Given the description of an element on the screen output the (x, y) to click on. 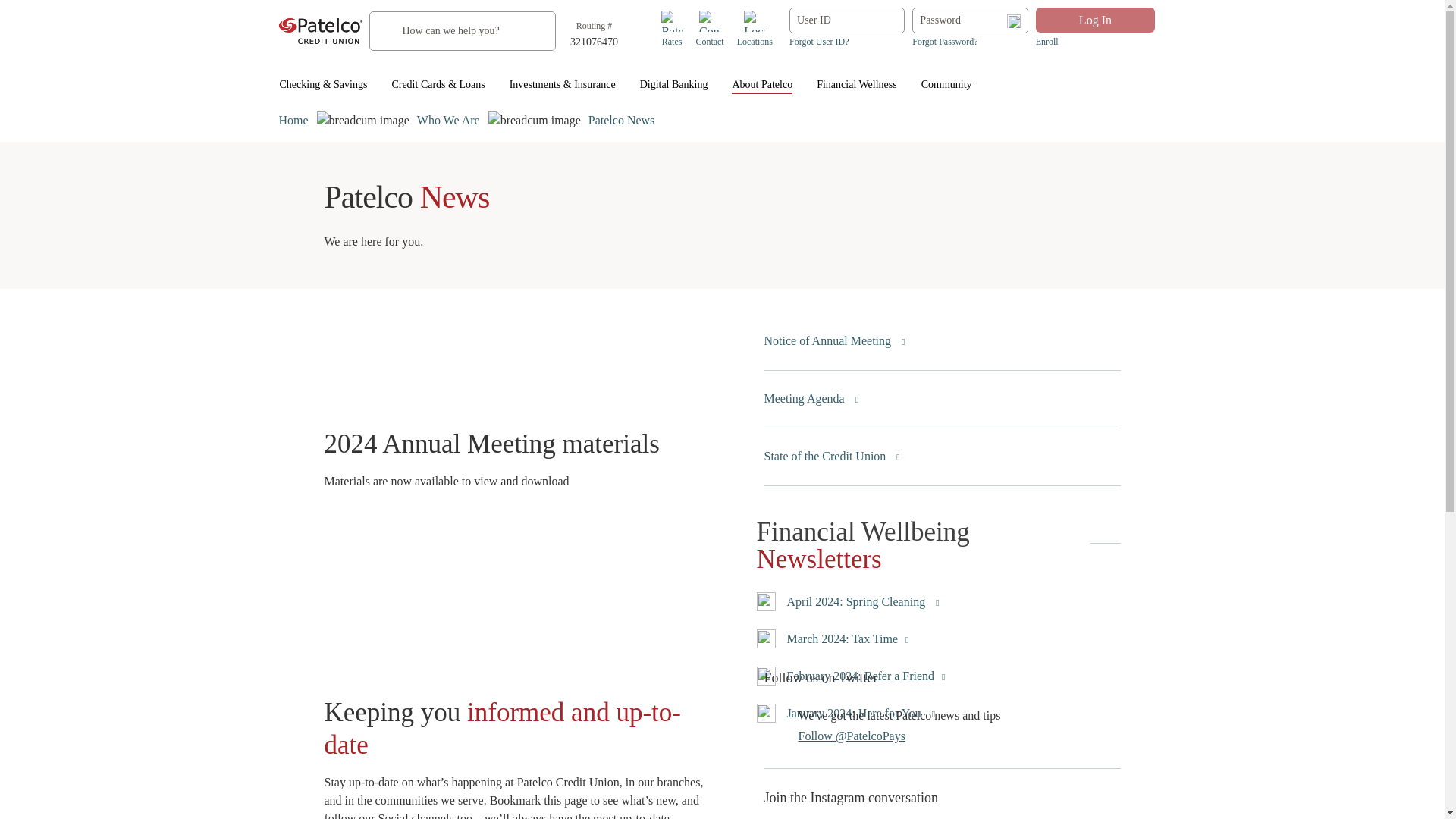
Contact (709, 39)
Locations (754, 39)
Rates (671, 39)
Rates (671, 39)
Contact (709, 39)
Enroll (1094, 41)
Locations (754, 20)
321076470 (594, 42)
Rates (671, 39)
Forgot Password? (969, 41)
Contact (709, 20)
Log In (1094, 19)
Patelco Credit Union (320, 31)
Contact (709, 20)
Rates (671, 20)
